Given the description of an element on the screen output the (x, y) to click on. 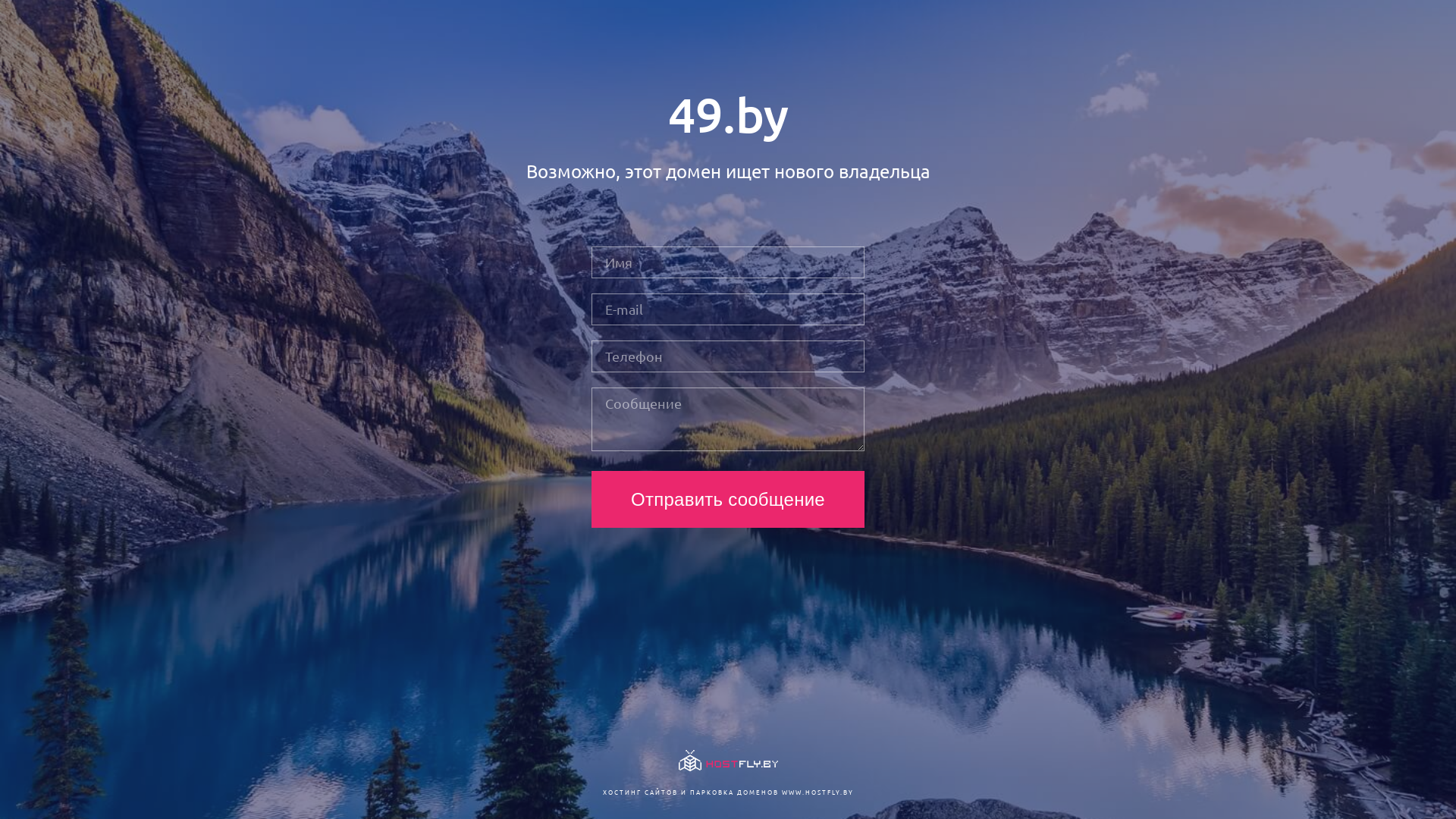
WWW.HOSTFLY.BY Element type: text (817, 791)
